Given the description of an element on the screen output the (x, y) to click on. 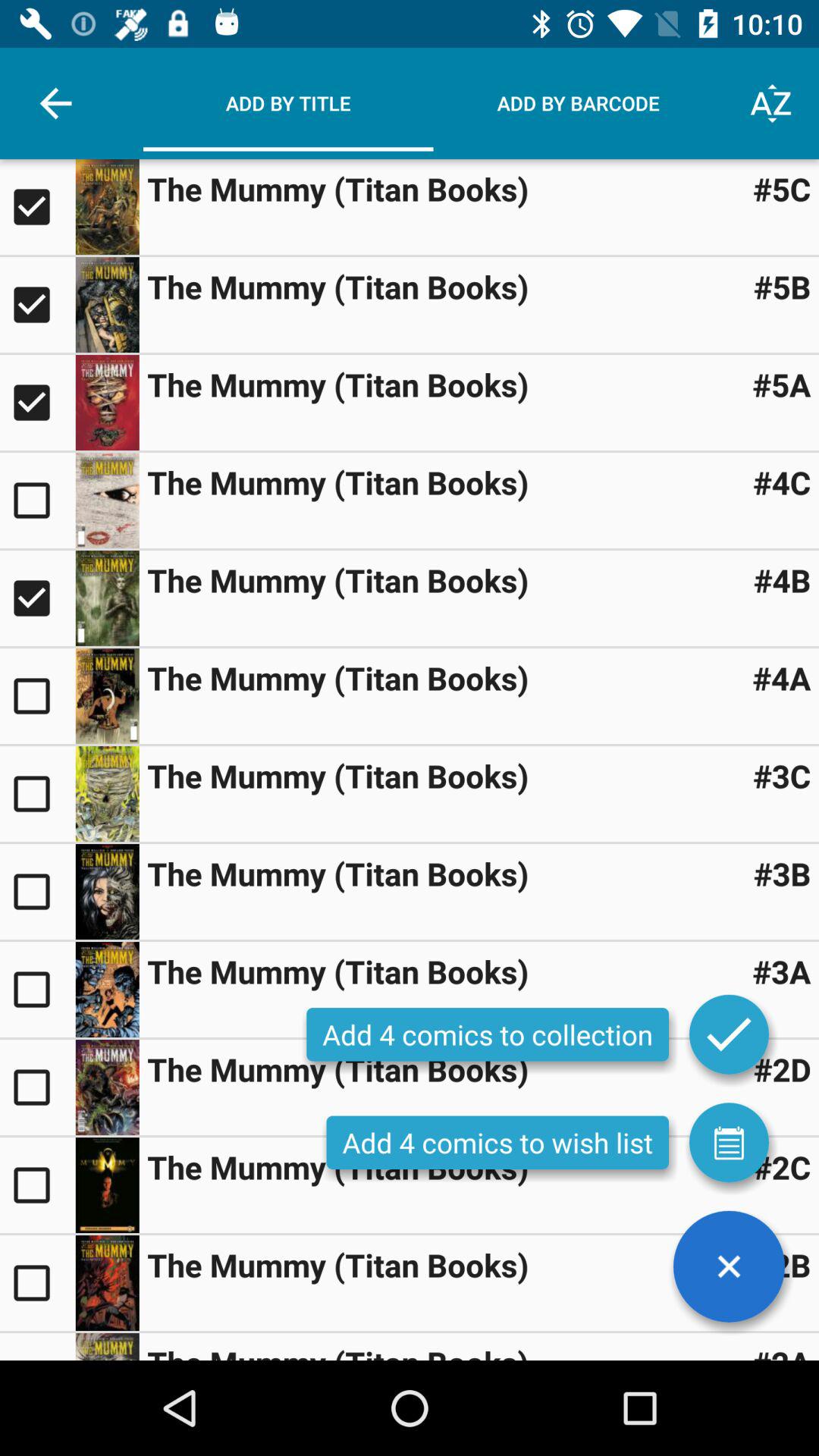
select the book (107, 1087)
